Given the description of an element on the screen output the (x, y) to click on. 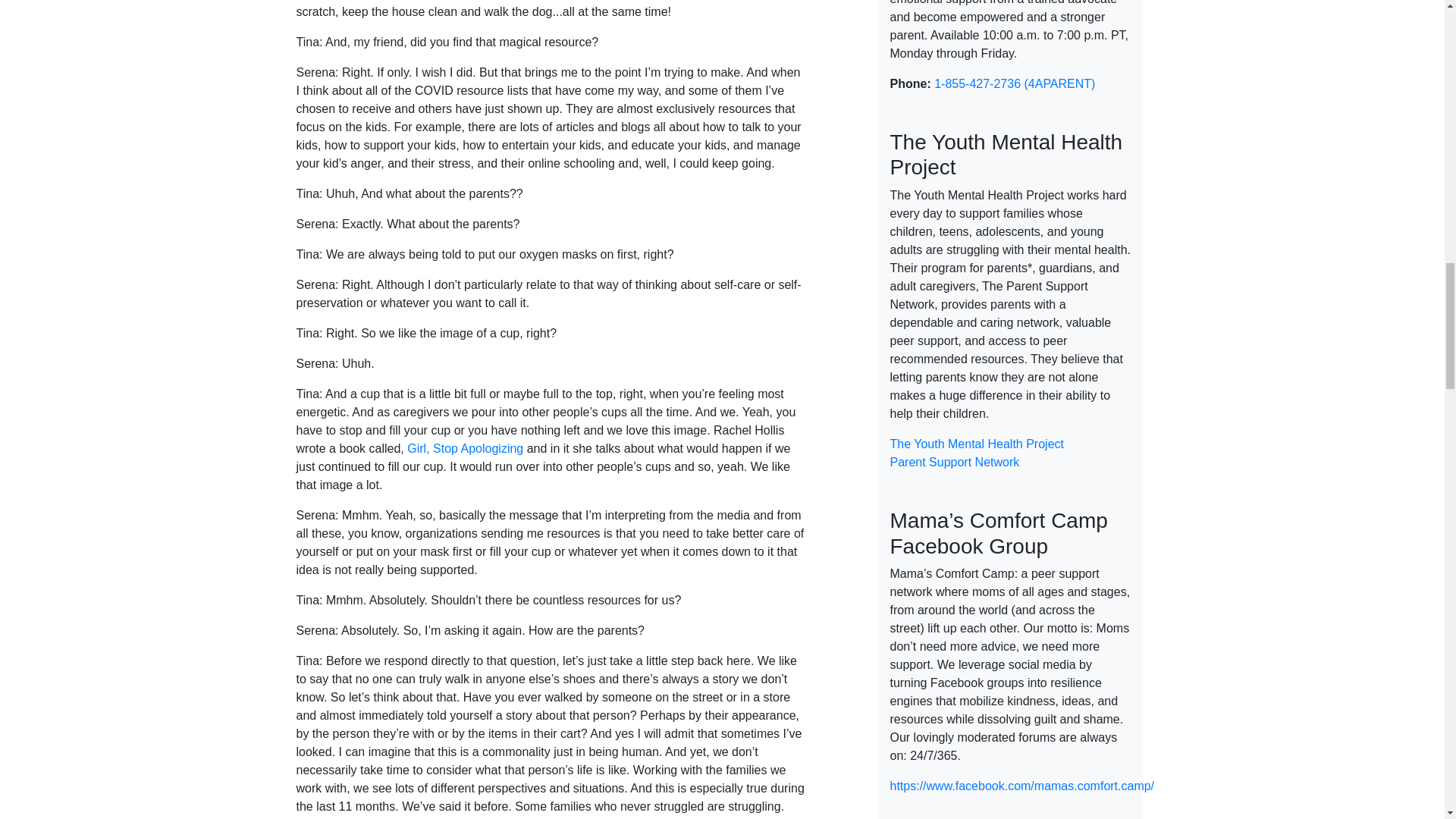
Girl, Stop Apologizing (464, 448)
Parent Support Network (954, 461)
The Youth Mental Health Project (976, 443)
